Given the description of an element on the screen output the (x, y) to click on. 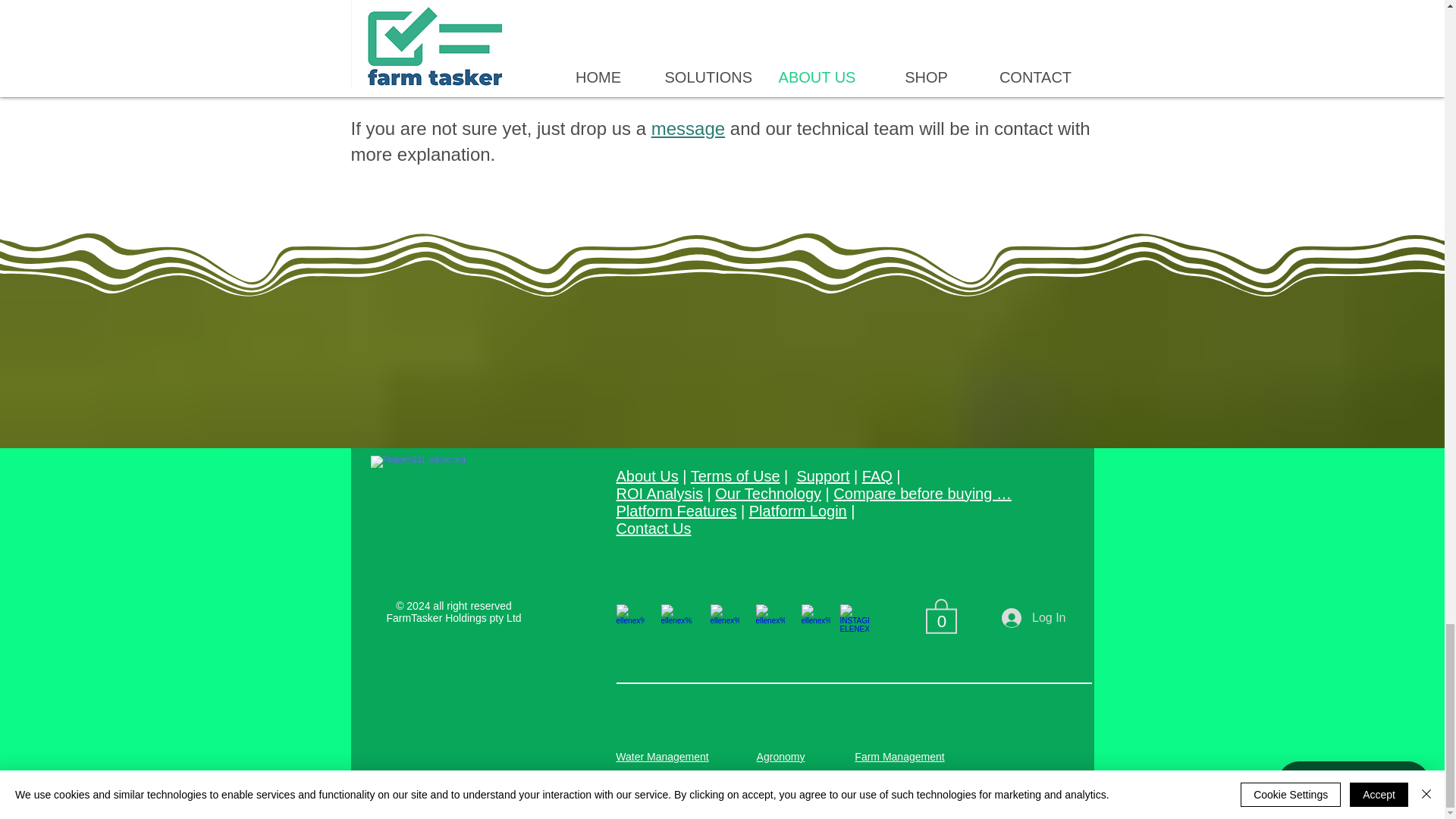
About Us (646, 475)
Agronomy (781, 756)
Support (822, 475)
Platform Features (675, 510)
Terms of Use (735, 475)
Farm Management (898, 756)
Contact Us (652, 528)
Our Technology (767, 493)
Water Management (661, 756)
ROI Analysis (658, 493)
FAQ (876, 475)
Log In (1033, 617)
message (687, 127)
Platform Login (798, 510)
